Given the description of an element on the screen output the (x, y) to click on. 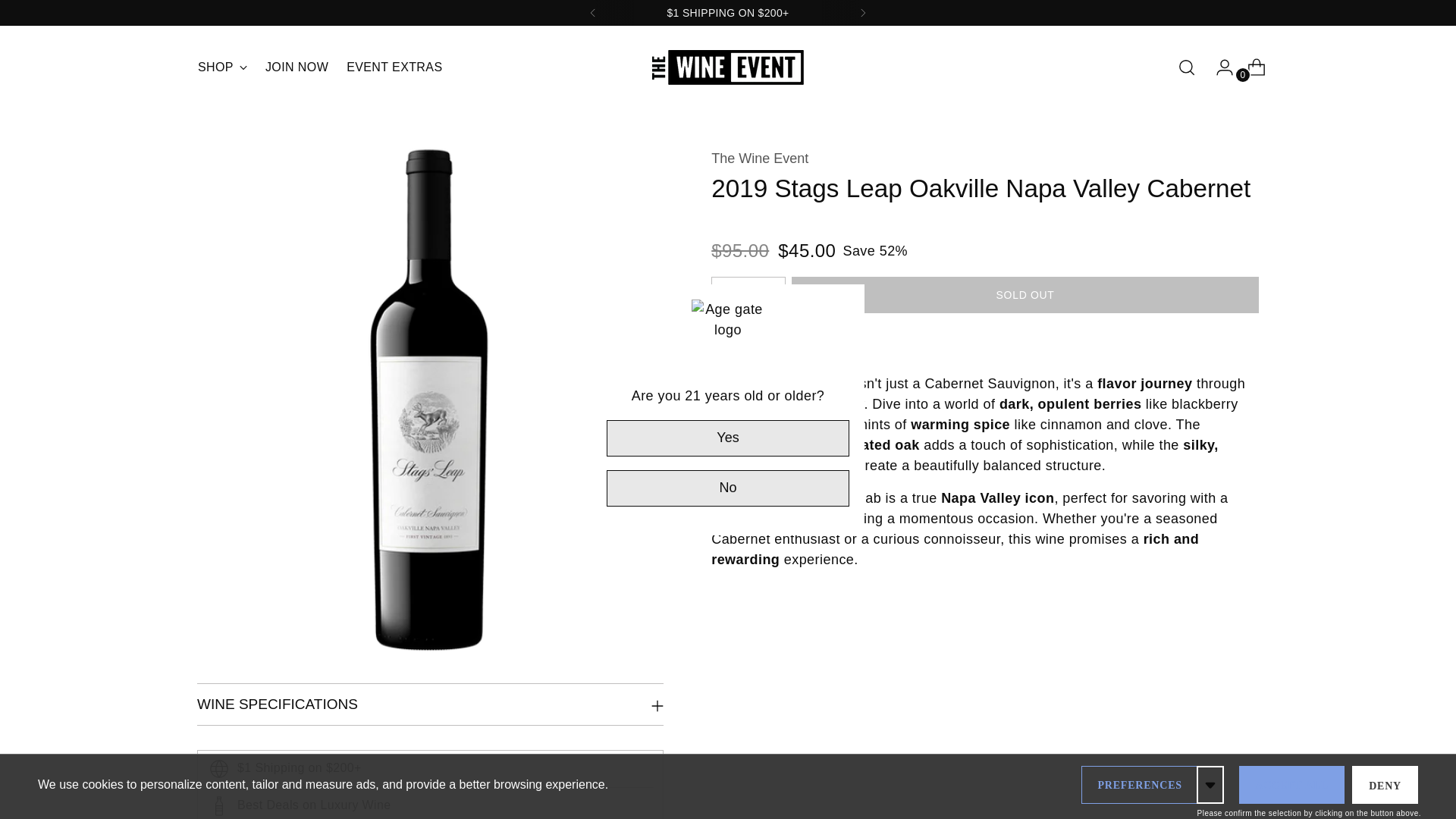
Previous (593, 12)
EVENT EXTRAS (319, 66)
Next (394, 67)
JOIN NOW (862, 12)
0 (296, 67)
SHOP (1249, 67)
